Given the description of an element on the screen output the (x, y) to click on. 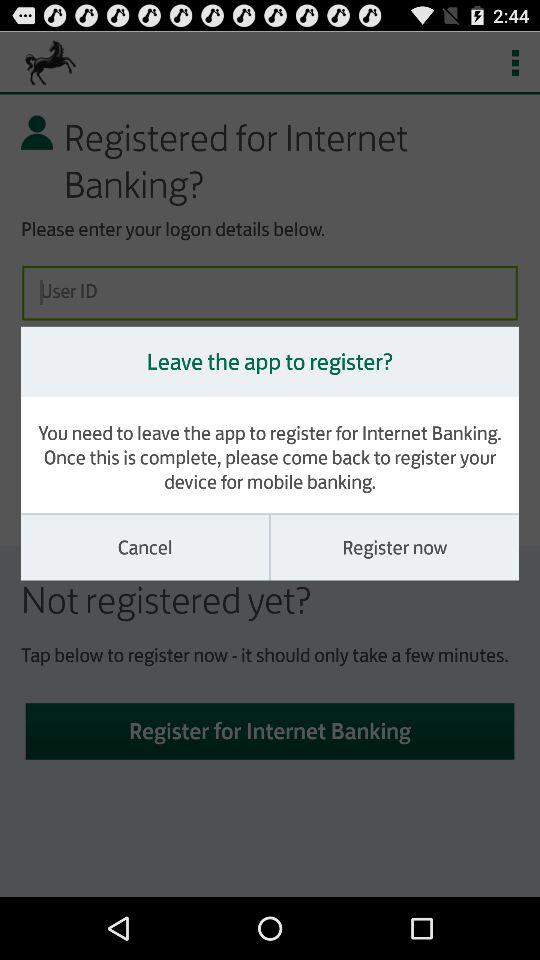
tap register now (394, 547)
